Given the description of an element on the screen output the (x, y) to click on. 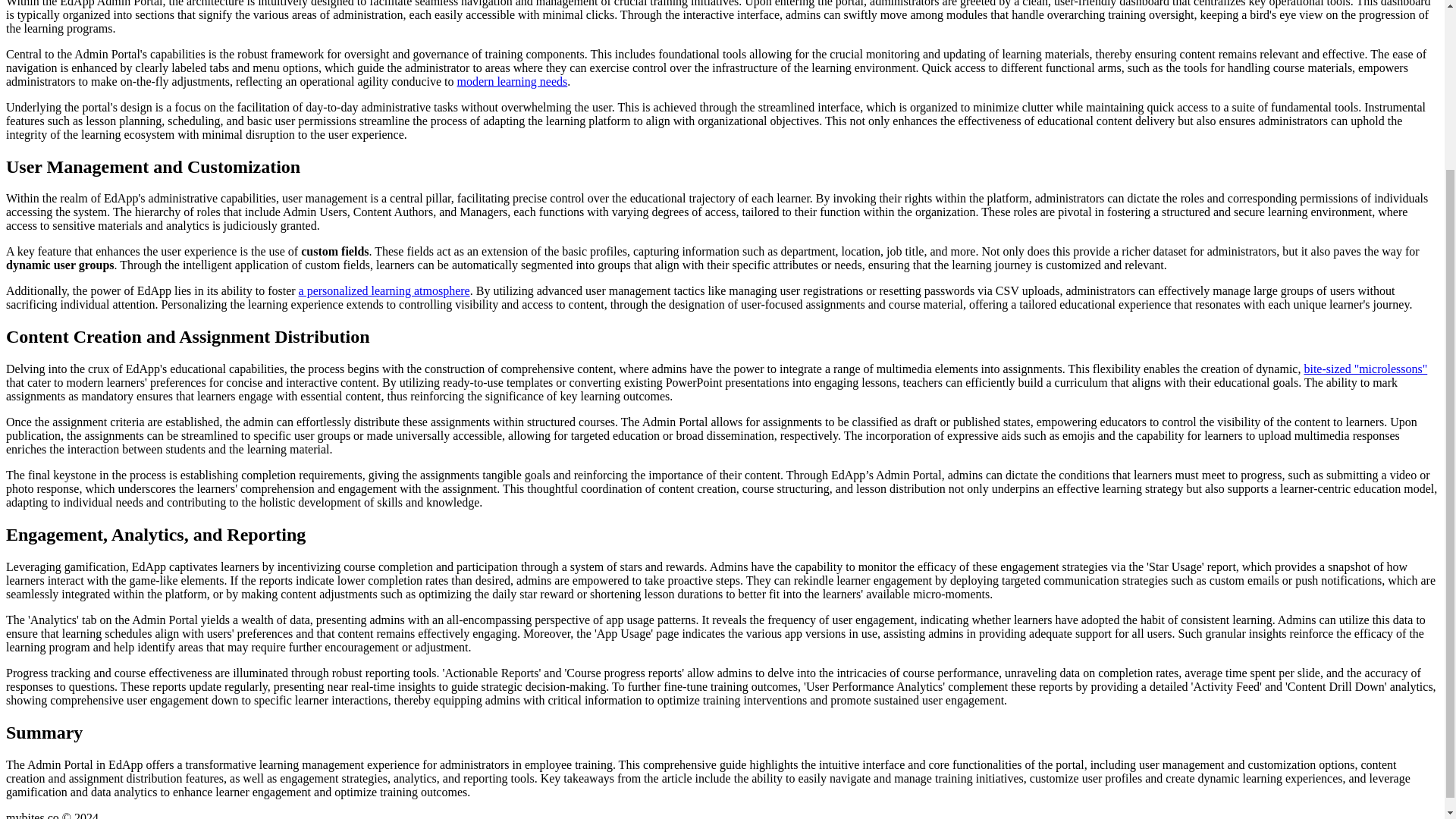
modern learning needs (512, 81)
bite-sized "microlessons" (1364, 368)
a personalized learning atmosphere (384, 290)
